Given the description of an element on the screen output the (x, y) to click on. 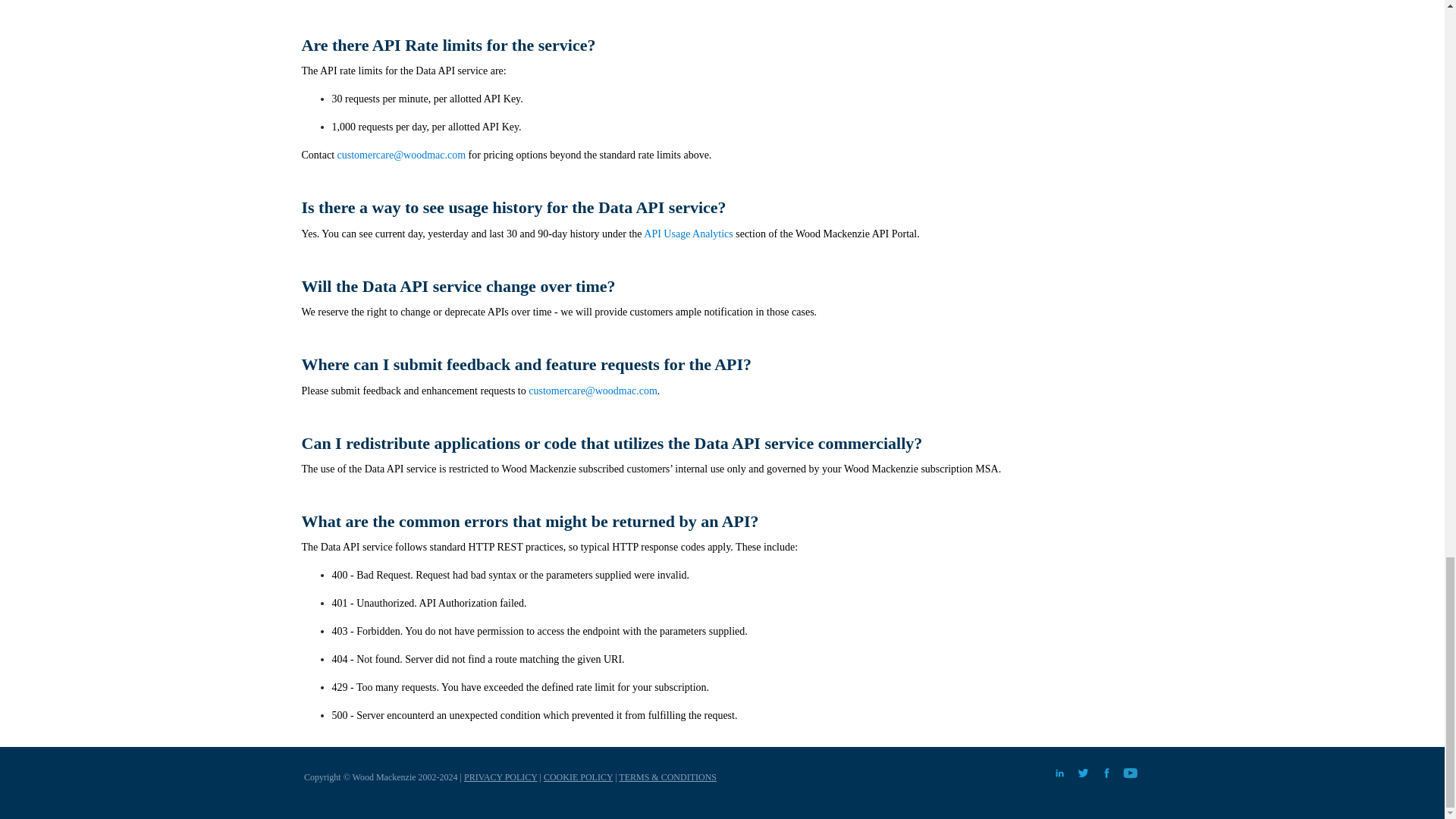
API Usage Analytics (687, 233)
